Given the description of an element on the screen output the (x, y) to click on. 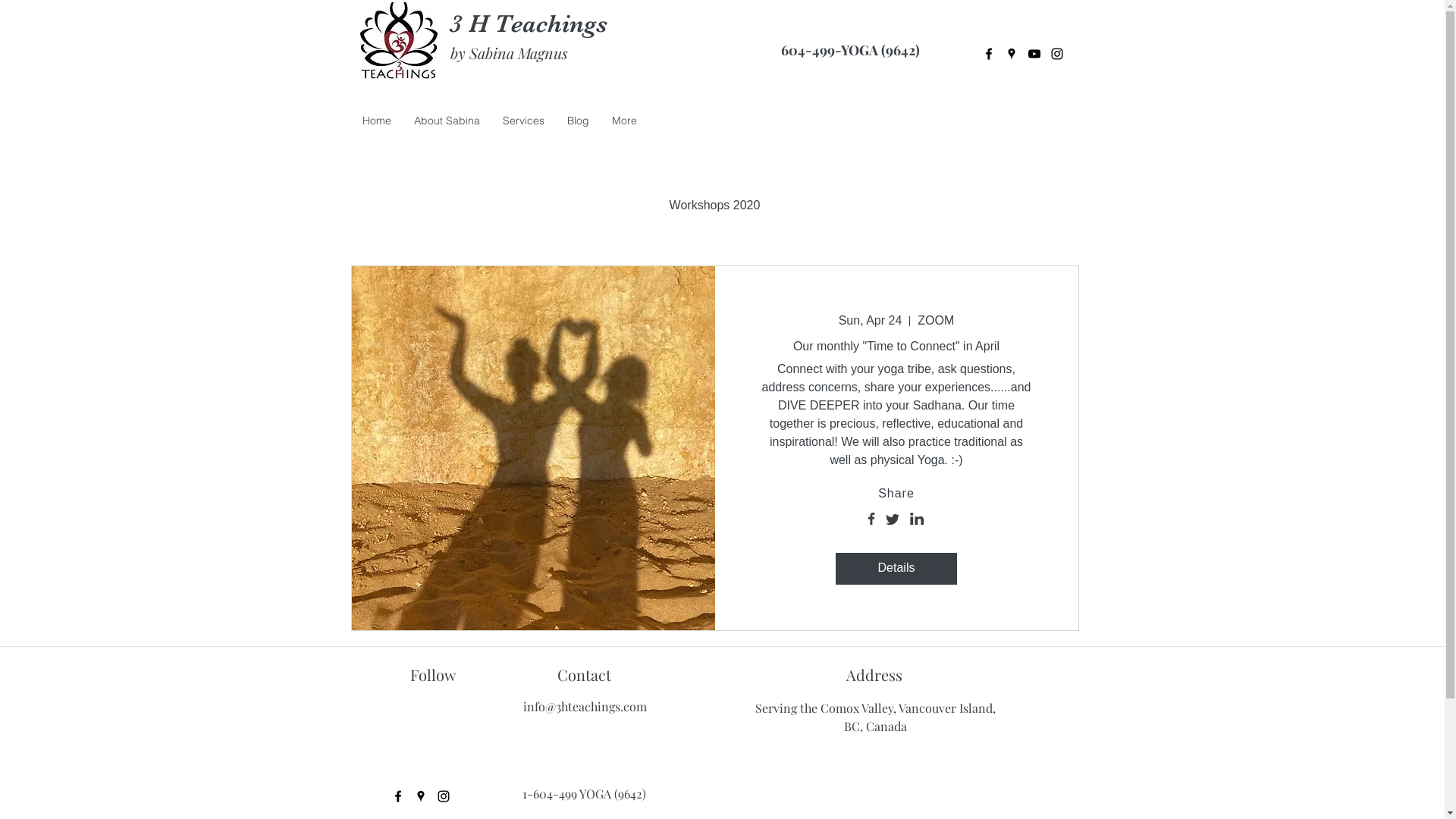
About Sabina Element type: text (445, 123)
Our monthly "Time to Connect" in April Element type: text (896, 345)
info@3hteachings.com Element type: text (584, 706)
Home Element type: text (375, 123)
Details Element type: text (896, 568)
Blog Element type: text (577, 123)
